Given the description of an element on the screen output the (x, y) to click on. 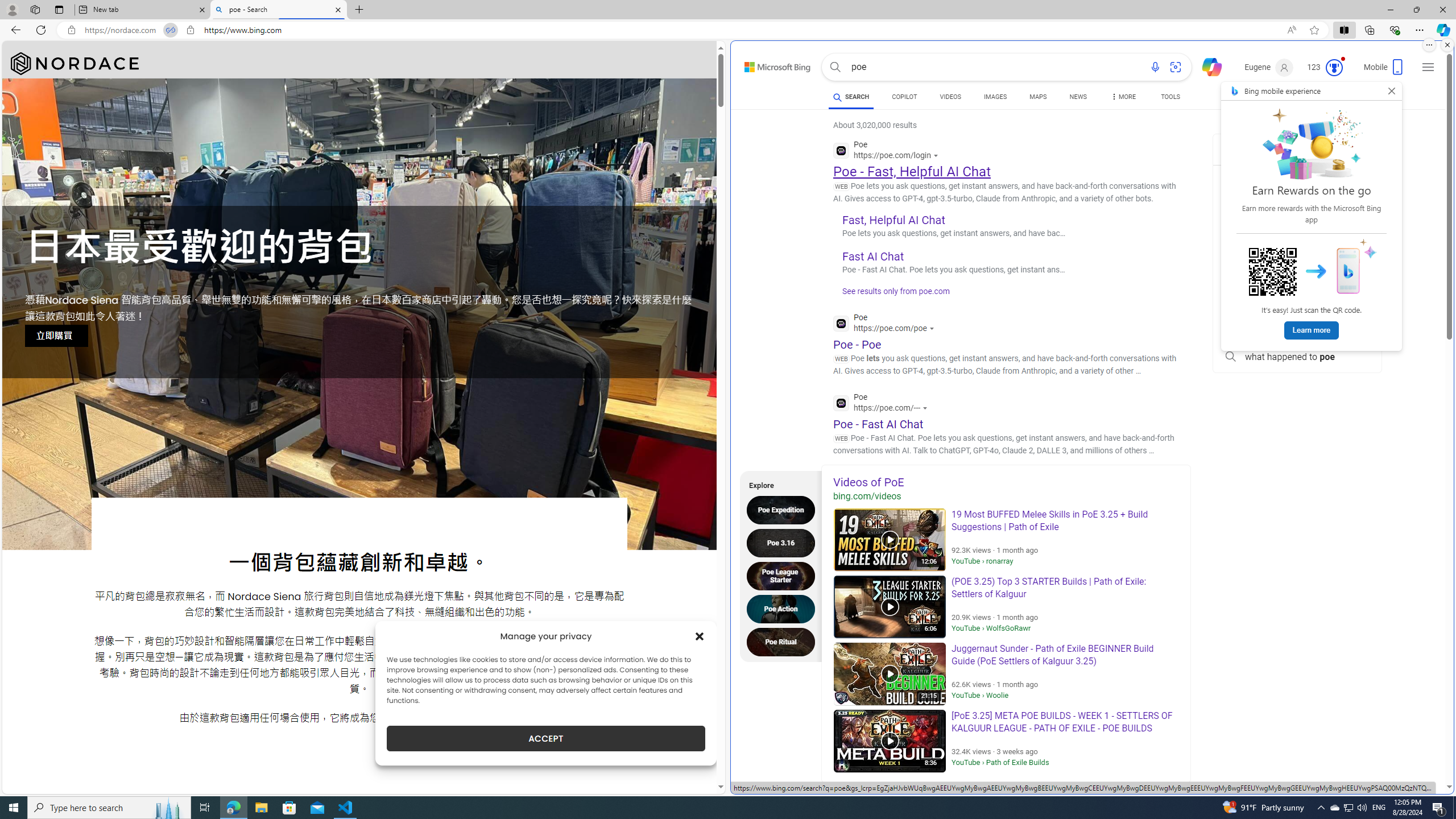
poe chat (1297, 229)
Poe League Starter (783, 575)
what happened to poe (1297, 356)
MORE (1123, 98)
Explore (777, 483)
See results only from poe.com (891, 294)
Learn more about Microsoft Bing app (1311, 330)
Search using an image (1174, 66)
Actions for this site (926, 408)
